Given the description of an element on the screen output the (x, y) to click on. 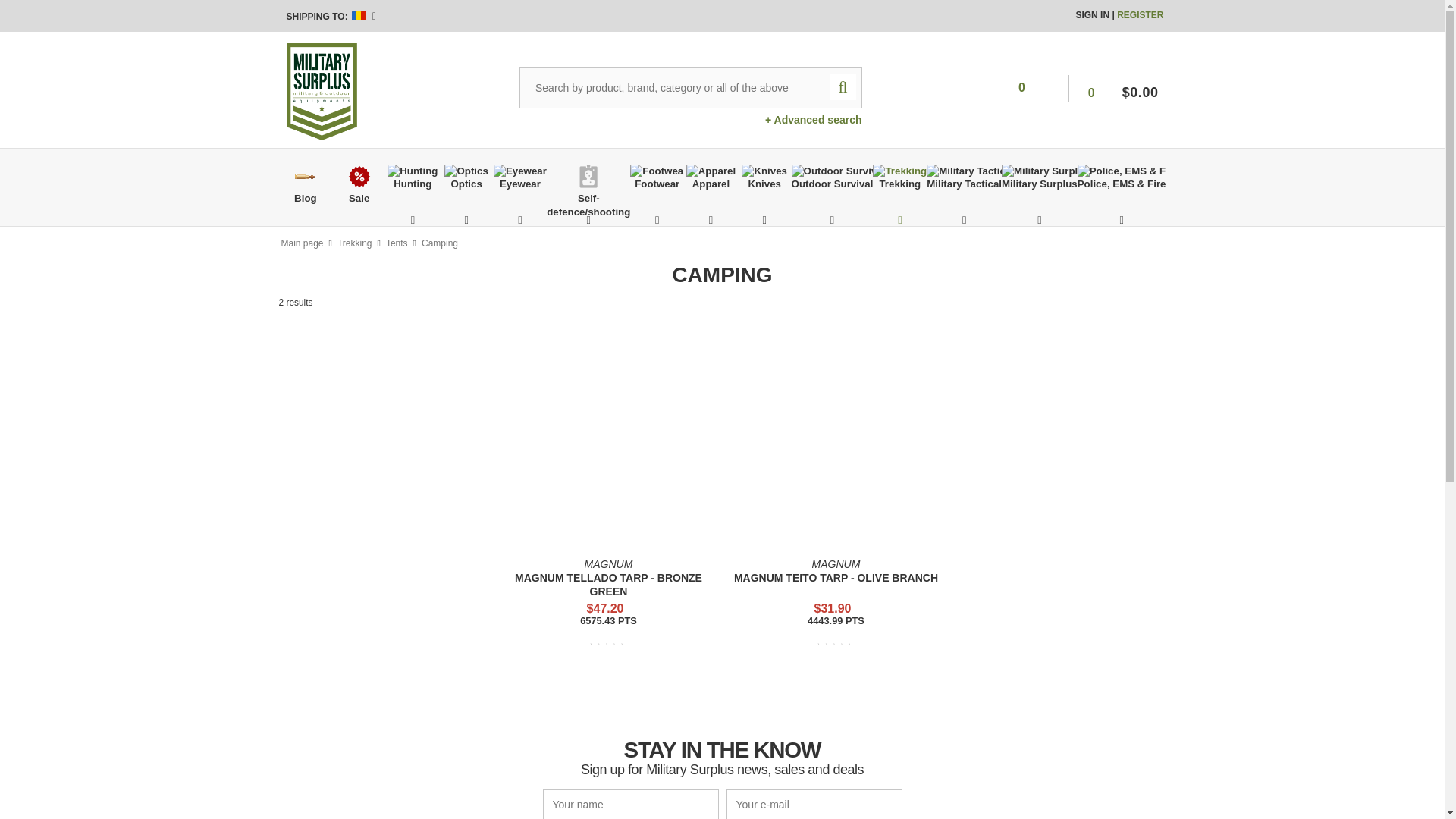
Sale (359, 176)
Advanced search (813, 119)
Eyewear (520, 170)
REGISTER (1139, 14)
Optics (465, 170)
SIGN IN (1093, 14)
Blog (305, 176)
Hunting (412, 170)
